Given the description of an element on the screen output the (x, y) to click on. 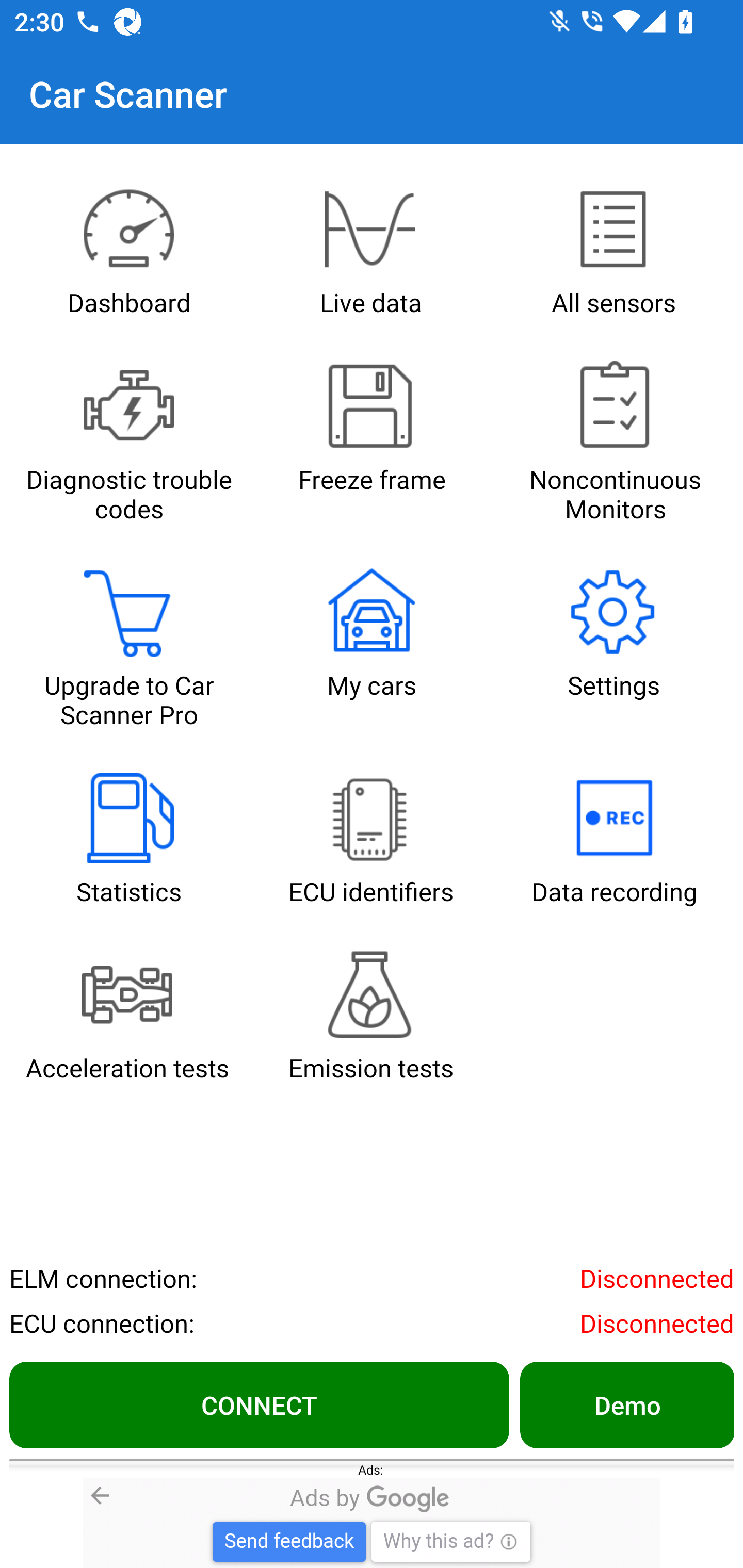
CONNECT (258, 1404)
Demo (627, 1404)
